Given the description of an element on the screen output the (x, y) to click on. 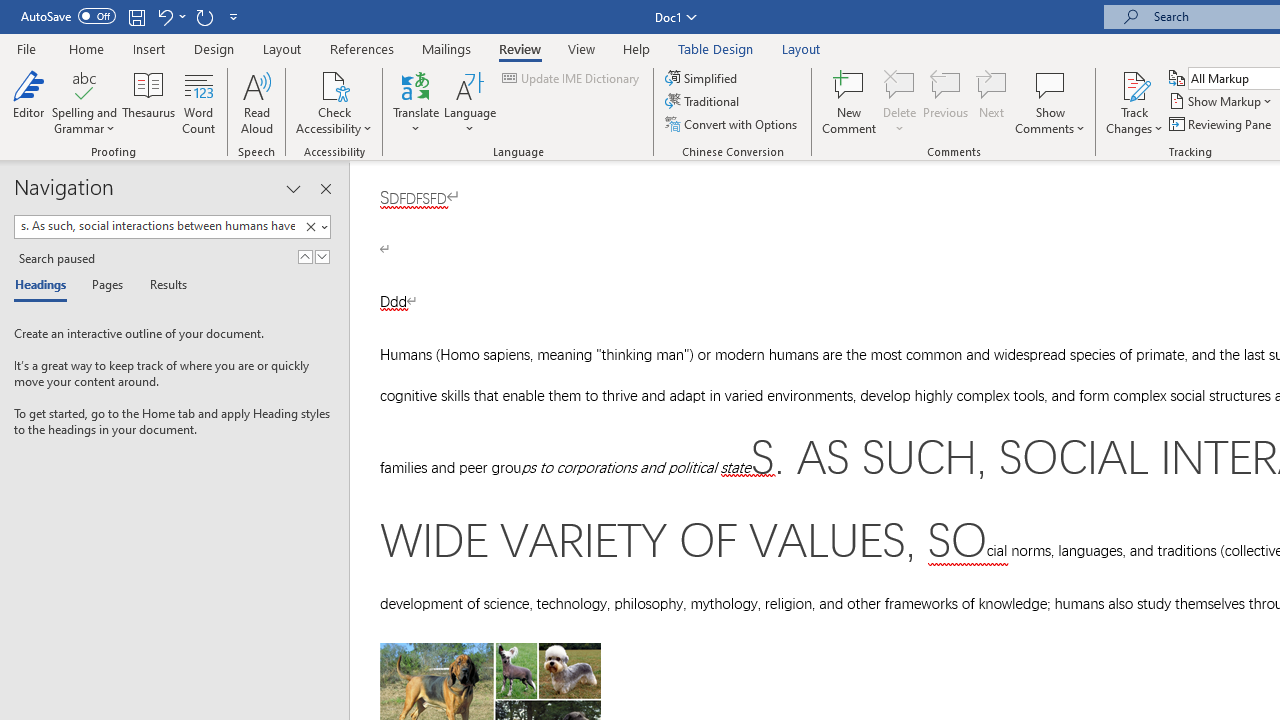
Delete (900, 102)
Repeat Style (204, 15)
Check Accessibility (334, 102)
Spelling and Grammar (84, 84)
Clear (310, 227)
Check Accessibility (334, 84)
Traditional (703, 101)
